Given the description of an element on the screen output the (x, y) to click on. 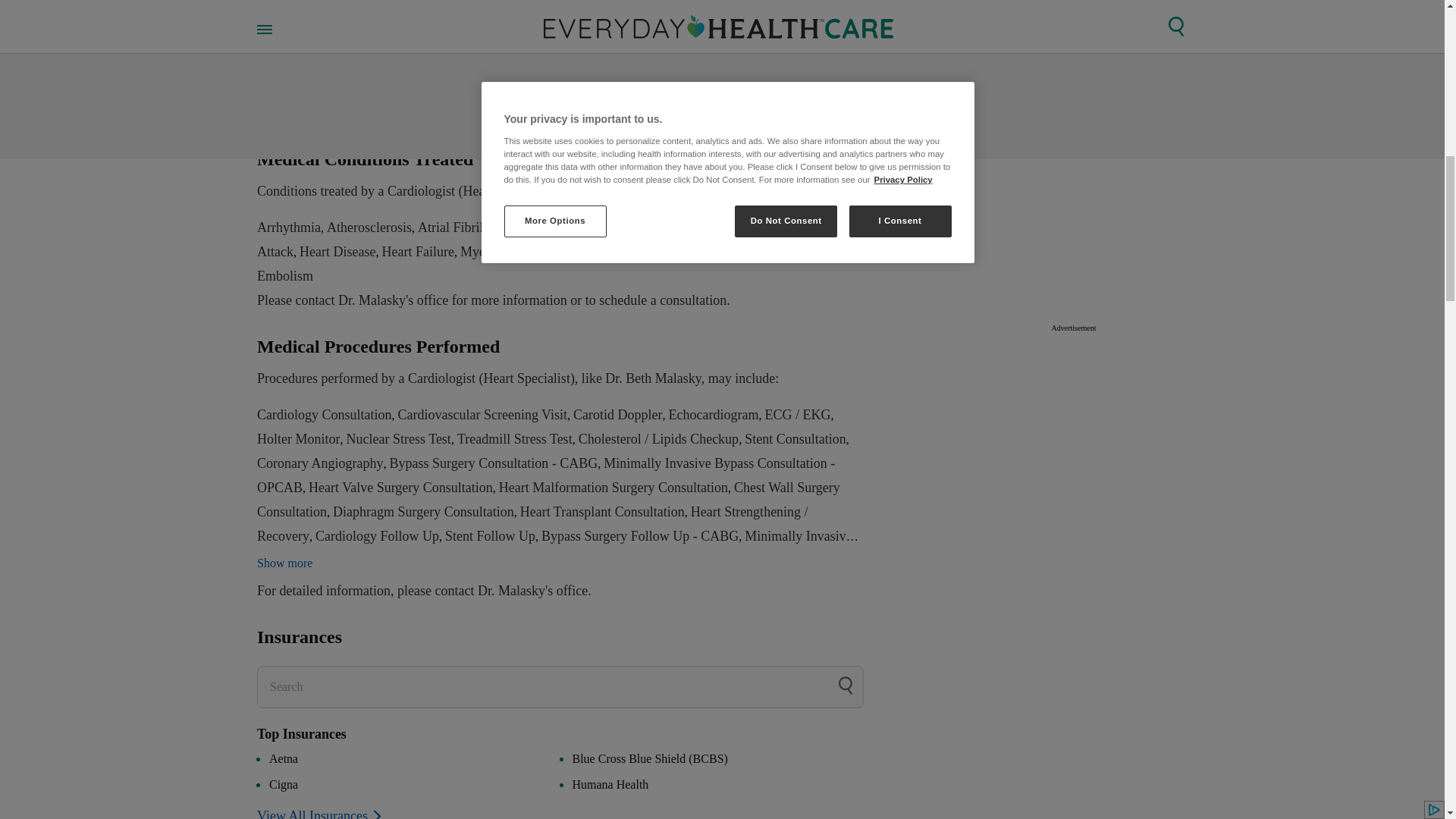
Carotid Doppler (617, 414)
Stent Consultation (794, 438)
Pericarditis (563, 251)
Treadmill Stress Test (514, 438)
Heart Failure (416, 251)
Heart Disease (337, 251)
Coronary Angiography (319, 462)
Cardiology Consultation (324, 414)
Nuclear Stress Test (397, 438)
Coronary Heart Disease (681, 227)
Carotid Stenosis (564, 227)
Pulmonary Embolism (559, 263)
Echocardiogram (713, 414)
Bypass Surgery Consultation - CABG (492, 462)
Atherosclerosis (369, 227)
